Given the description of an element on the screen output the (x, y) to click on. 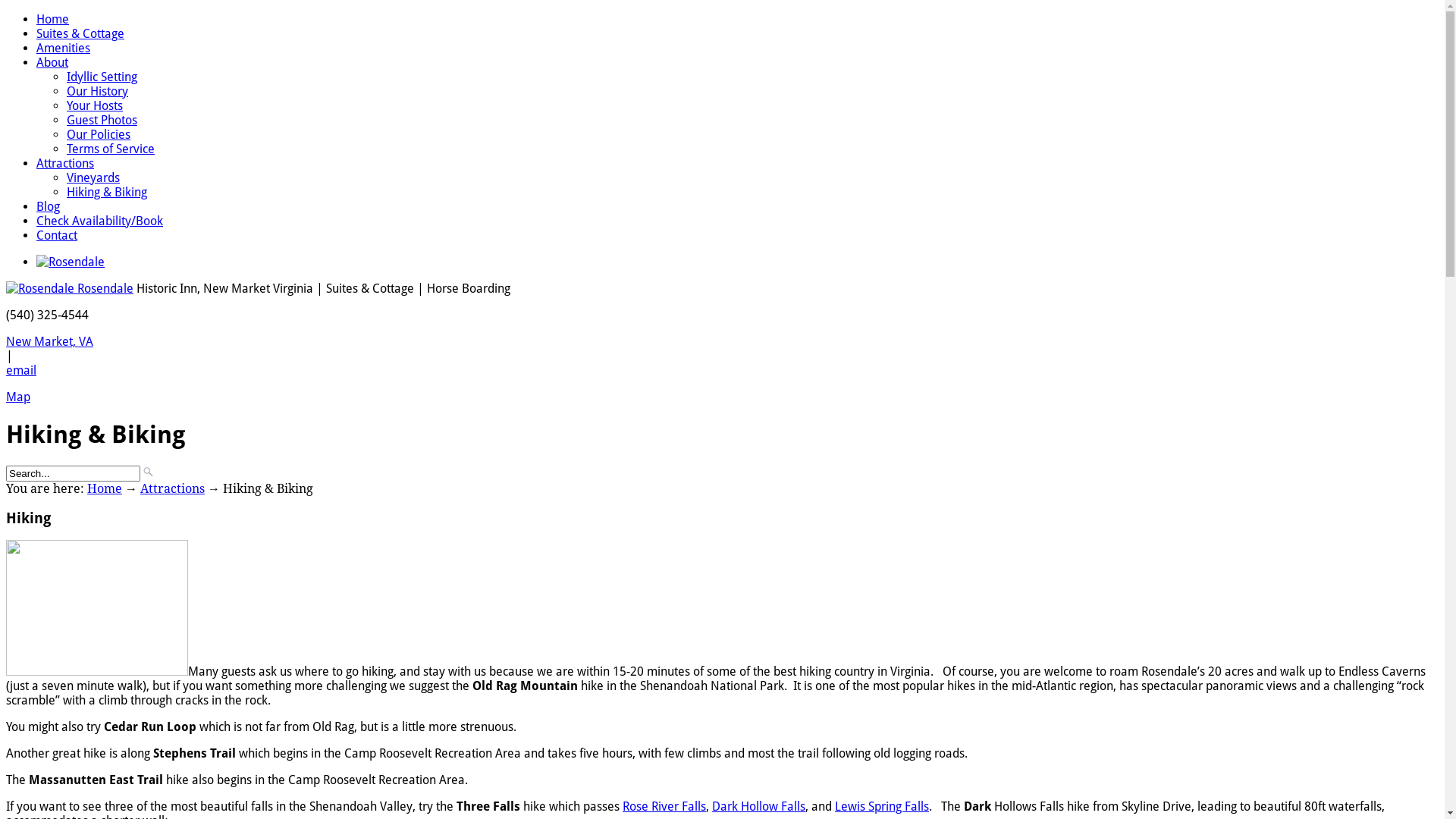
Your Hosts Element type: text (94, 105)
Hiking & Biking Element type: text (106, 192)
Check Availability/Book Element type: text (99, 220)
Home Element type: text (104, 488)
email Element type: text (21, 370)
New Market, VA Element type: text (49, 341)
Amenities Element type: text (63, 47)
Dark Hollow Falls Element type: text (758, 806)
Guest Photos Element type: text (101, 119)
Rose River Falls Element type: text (664, 806)
Terms of Service Element type: text (110, 148)
Attractions Element type: text (172, 488)
Suites & Cottage Element type: text (80, 33)
Our History Element type: text (97, 91)
Map Element type: text (18, 396)
Rosendale Element type: text (105, 288)
Our Policies Element type: text (98, 134)
Blog Element type: text (47, 206)
Home Element type: text (52, 19)
Vineyards Element type: text (92, 177)
Lewis Spring Falls Element type: text (881, 806)
Idyllic Setting Element type: text (101, 76)
skyline drive 2 Element type: hover (97, 607)
About Element type: text (52, 62)
Attractions Element type: text (65, 163)
Contact Element type: text (56, 235)
